Given the description of an element on the screen output the (x, y) to click on. 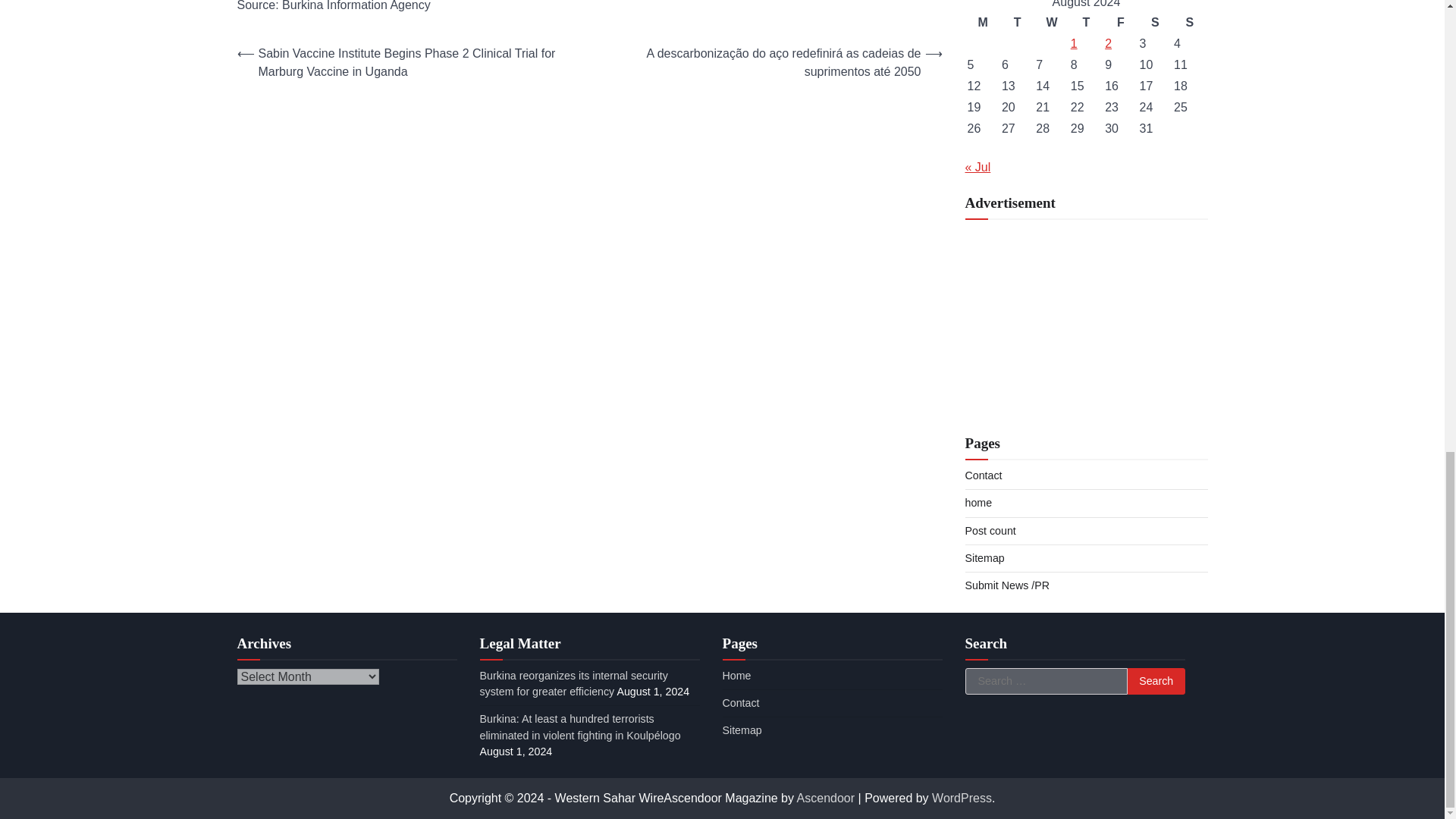
Wednesday (1051, 22)
Sitemap (983, 558)
Search (1155, 681)
Post count (988, 530)
Search (1155, 681)
Thursday (1086, 22)
home (977, 502)
Contact (982, 475)
Friday (1120, 22)
Sunday (1189, 22)
Monday (982, 22)
Tuesday (1017, 22)
Saturday (1155, 22)
